Given the description of an element on the screen output the (x, y) to click on. 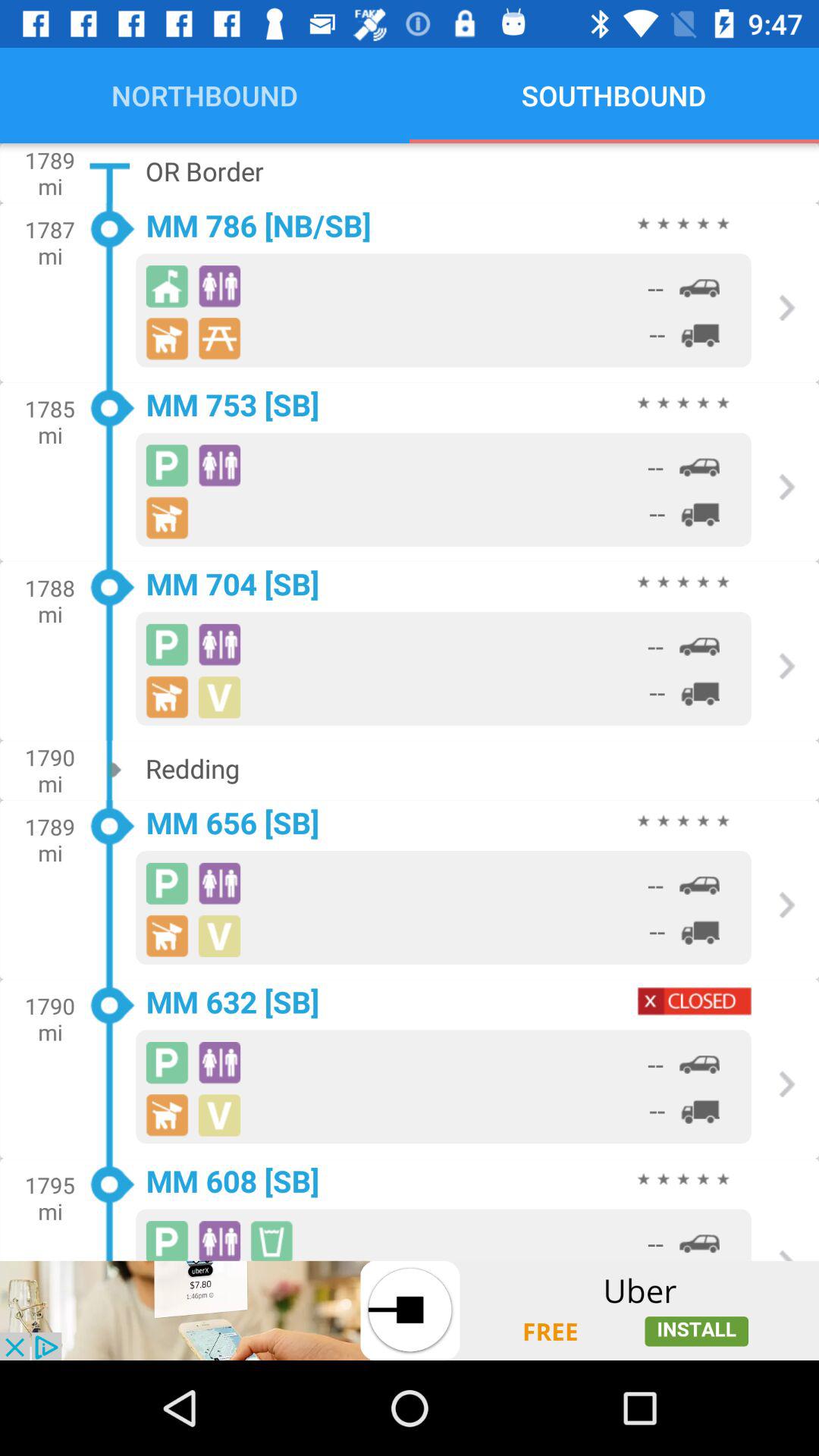
advertisement image (409, 1310)
